Given the description of an element on the screen output the (x, y) to click on. 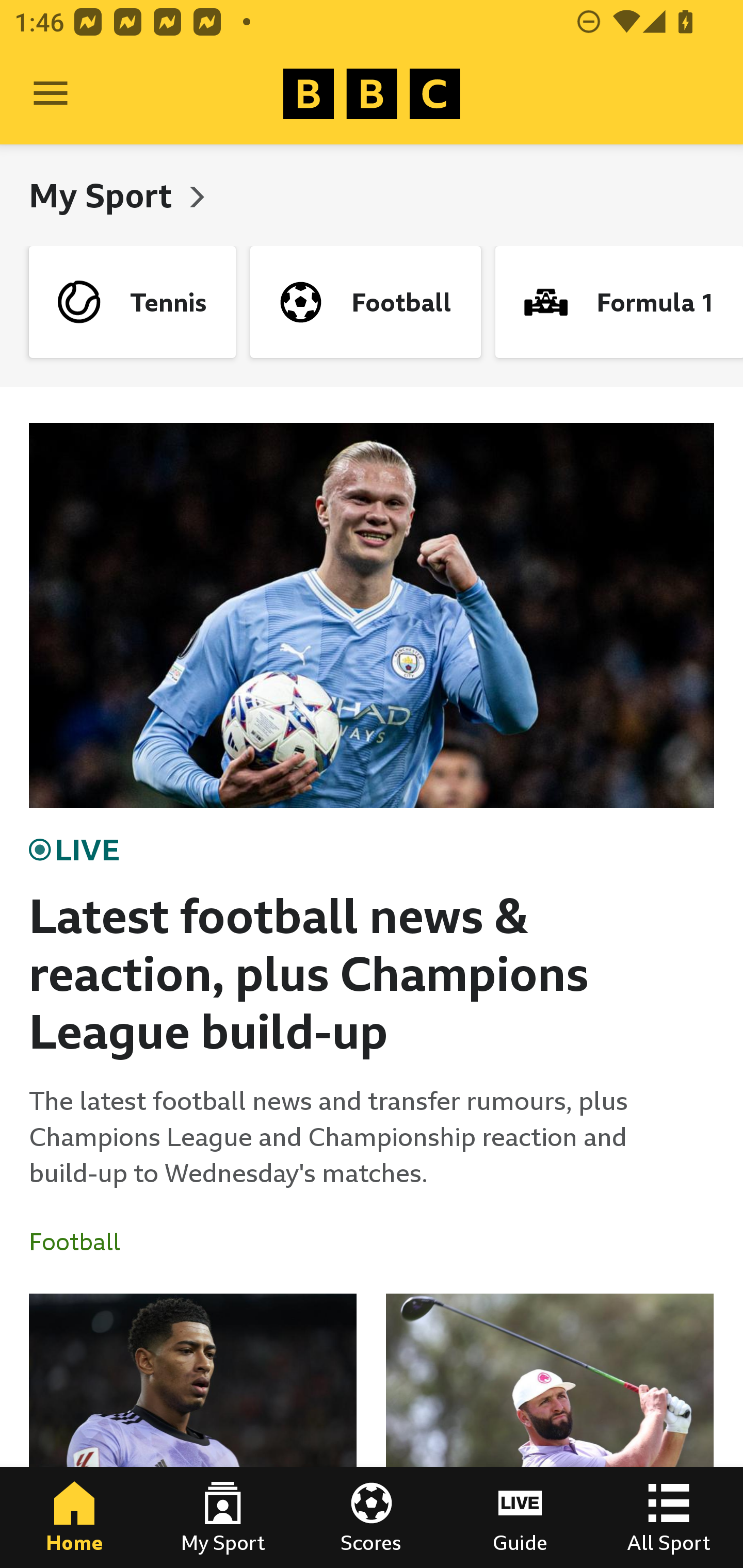
Open Menu (50, 93)
My Sport (104, 195)
Football In the section Football (81, 1241)
Real midfielder Bellingham banned for two games (192, 1430)
My Sport (222, 1517)
Scores (371, 1517)
Guide (519, 1517)
All Sport (668, 1517)
